Given the description of an element on the screen output the (x, y) to click on. 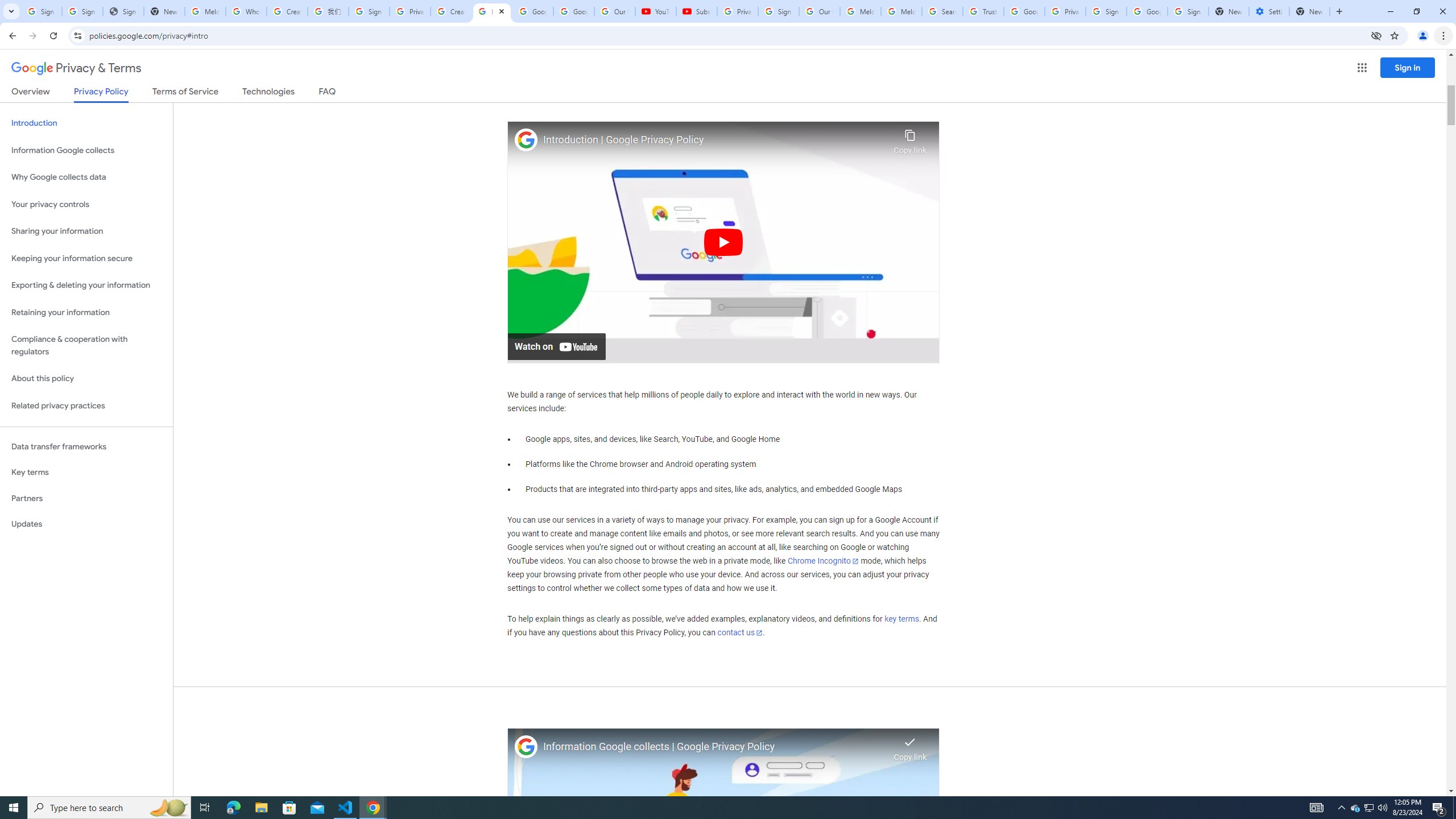
YouTube (655, 11)
New Tab (1309, 11)
Related privacy practices (86, 405)
contact us (739, 633)
Sign in - Google Accounts (1105, 11)
Information Google collects (86, 150)
